Given the description of an element on the screen output the (x, y) to click on. 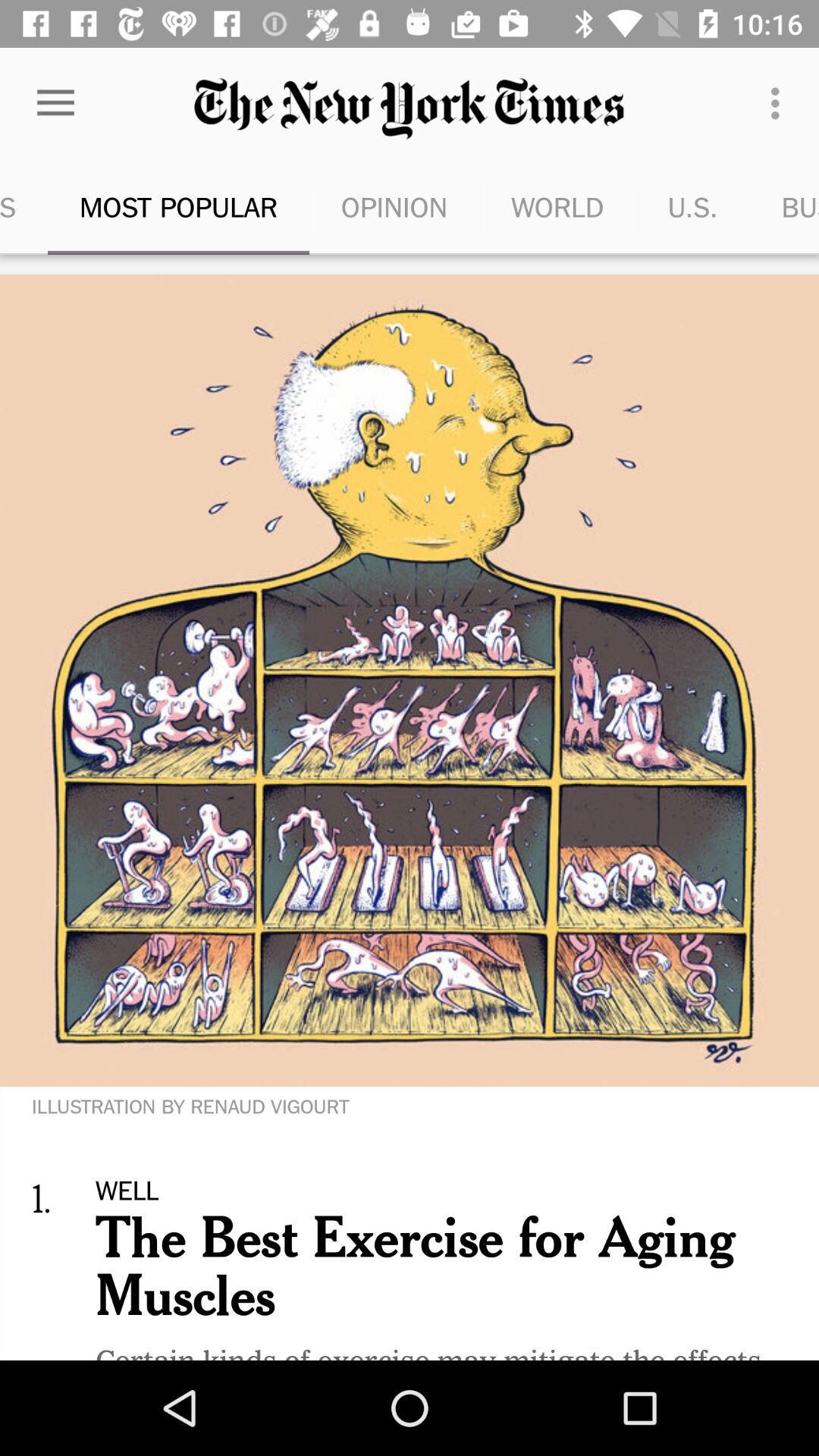
click icon to the left of opinion icon (178, 206)
